Given the description of an element on the screen output the (x, y) to click on. 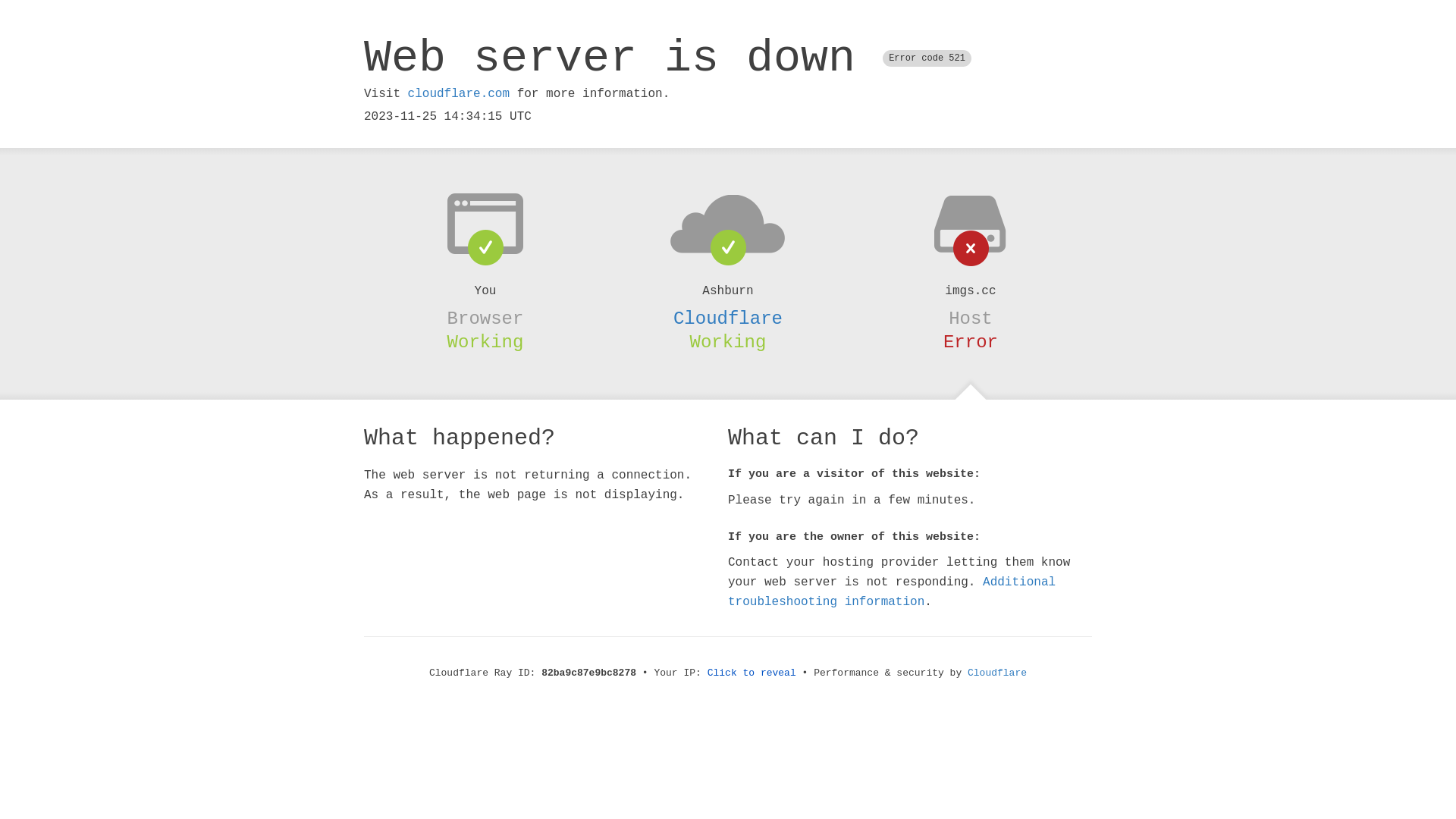
Click to reveal Element type: text (751, 672)
cloudflare.com Element type: text (458, 93)
Cloudflare Element type: text (727, 318)
Additional troubleshooting information Element type: text (891, 591)
Cloudflare Element type: text (996, 672)
